Given the description of an element on the screen output the (x, y) to click on. 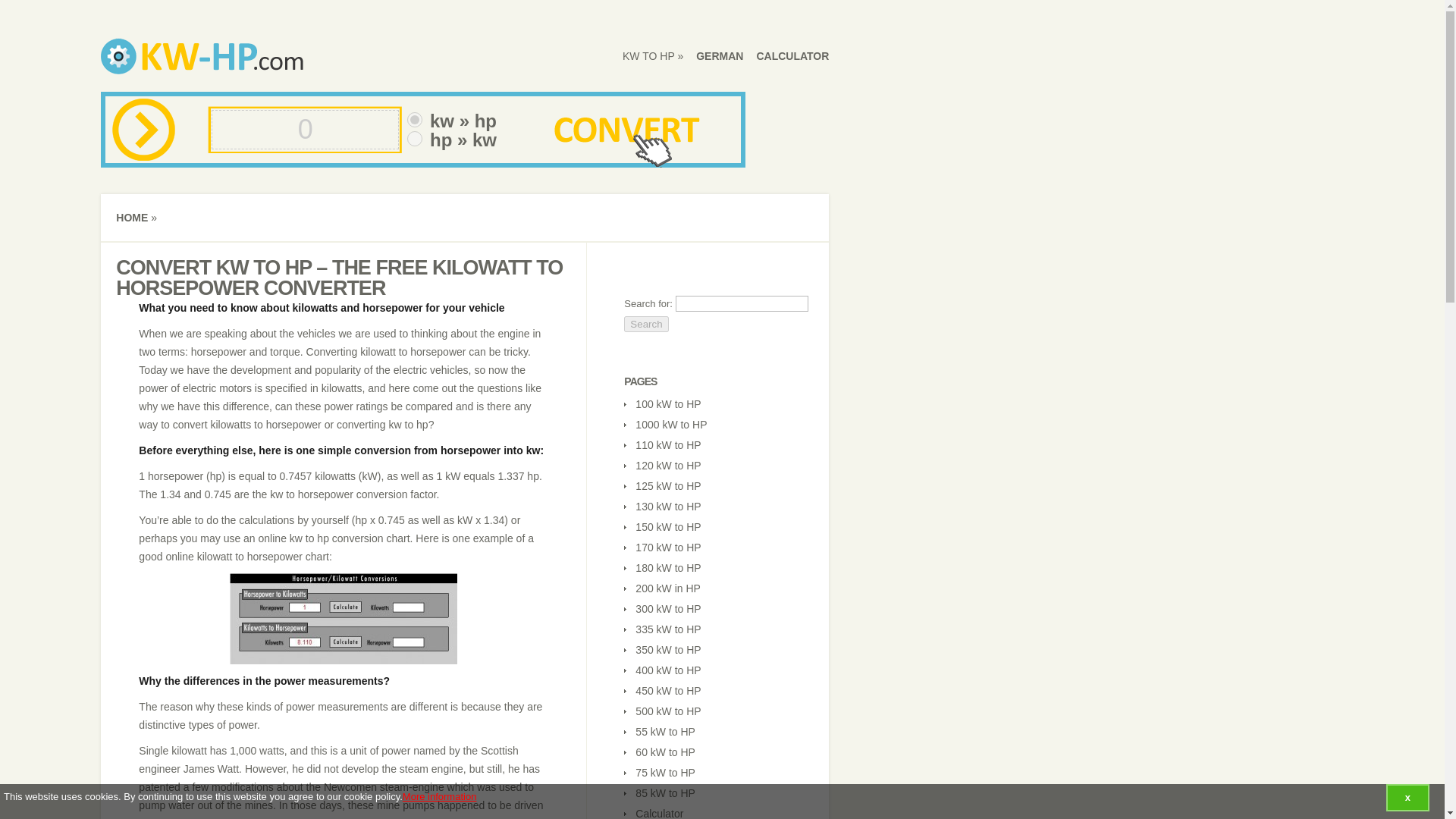
CALCULATOR (791, 55)
Search (646, 324)
kW to hp - converter (252, 67)
Convert now (625, 140)
GERMAN (718, 55)
kw to hp (652, 55)
More information (440, 796)
0 (304, 129)
x (1407, 797)
